Given the description of an element on the screen output the (x, y) to click on. 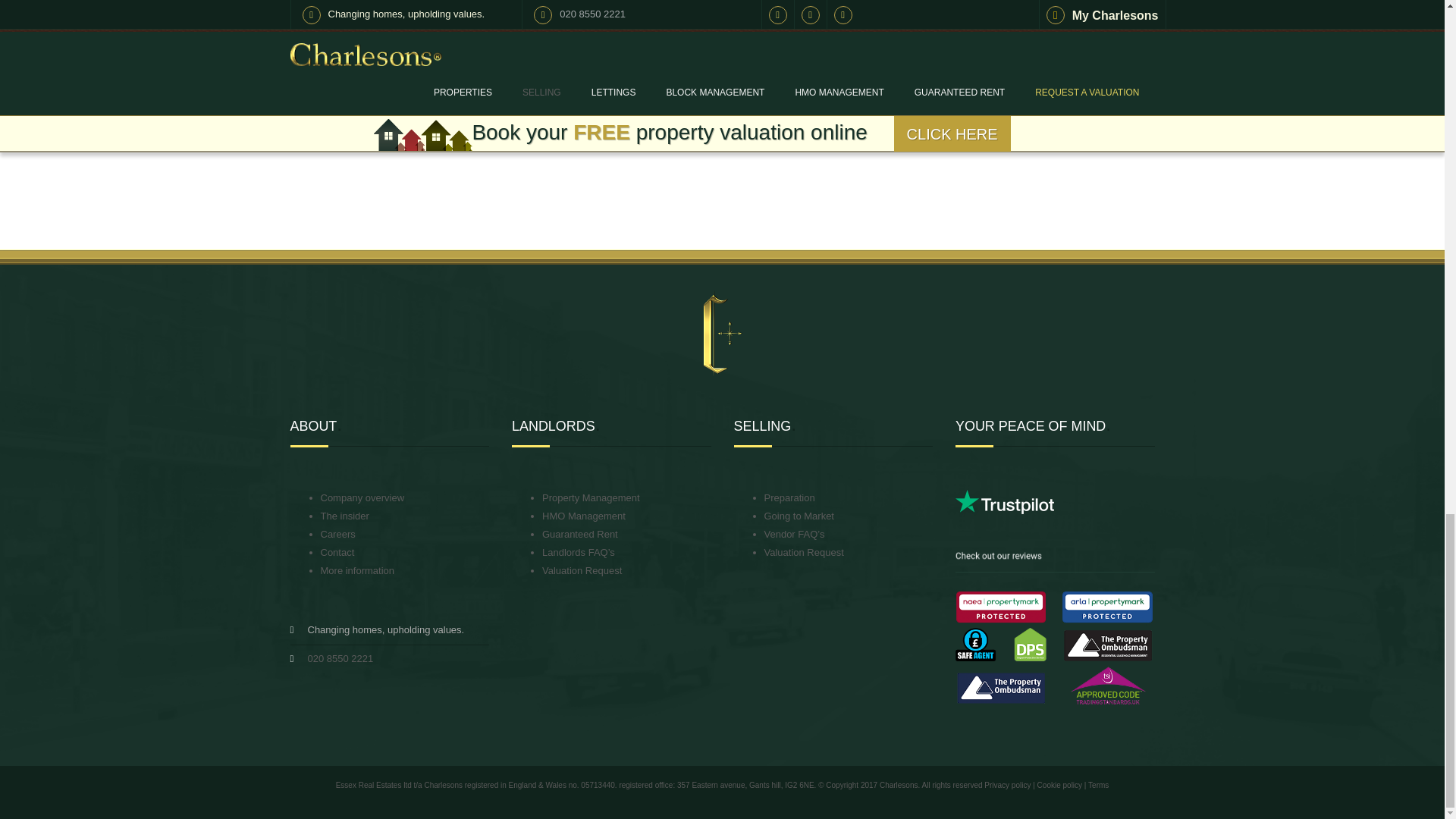
More information (357, 570)
The insider (344, 515)
Property Management (590, 497)
Careers (337, 533)
020 8550 2221 (340, 658)
CLICK HERE TO BOOK YOUR FREE VALUATION TODAY. (721, 40)
Company overview (362, 497)
HMO Management (583, 515)
Contact (336, 552)
